Given the description of an element on the screen output the (x, y) to click on. 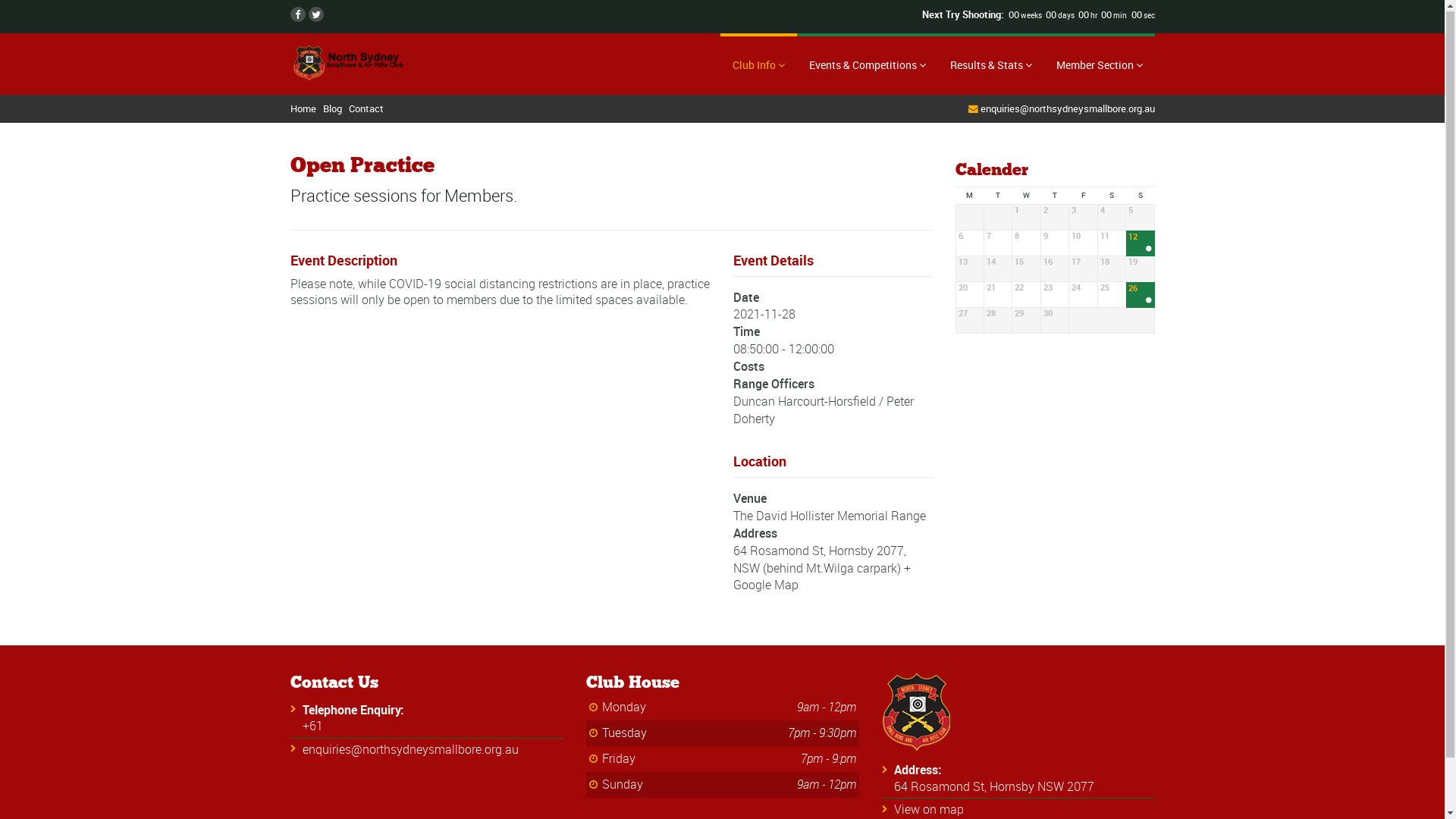
enquiries@northsydneysmallbore.org.au Element type: text (409, 749)
event Element type: hover (1148, 301)
Contact Element type: text (365, 109)
Blog Element type: text (332, 109)
Member Section Element type: text (1098, 64)
Club Info Element type: text (758, 64)
View on map Element type: text (928, 809)
Home Element type: text (302, 109)
Events & Competitions Element type: text (866, 64)
Results & Stats Element type: text (990, 64)
Google Map Element type: text (765, 585)
enquiries@northsydneysmallbore.org.au Element type: text (1066, 109)
event Element type: hover (1148, 249)
